Given the description of an element on the screen output the (x, y) to click on. 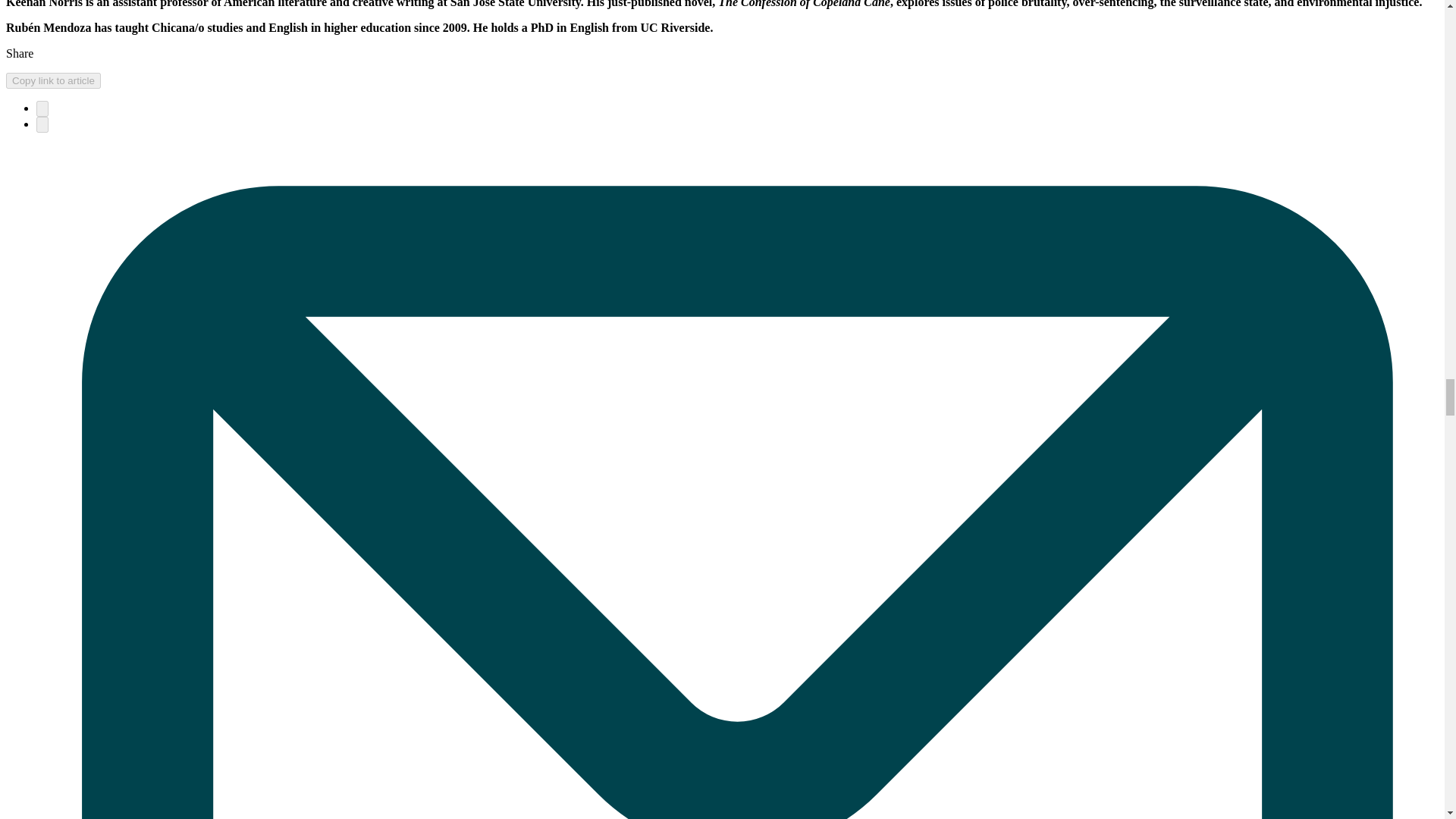
Copy link to article (52, 80)
